Given the description of an element on the screen output the (x, y) to click on. 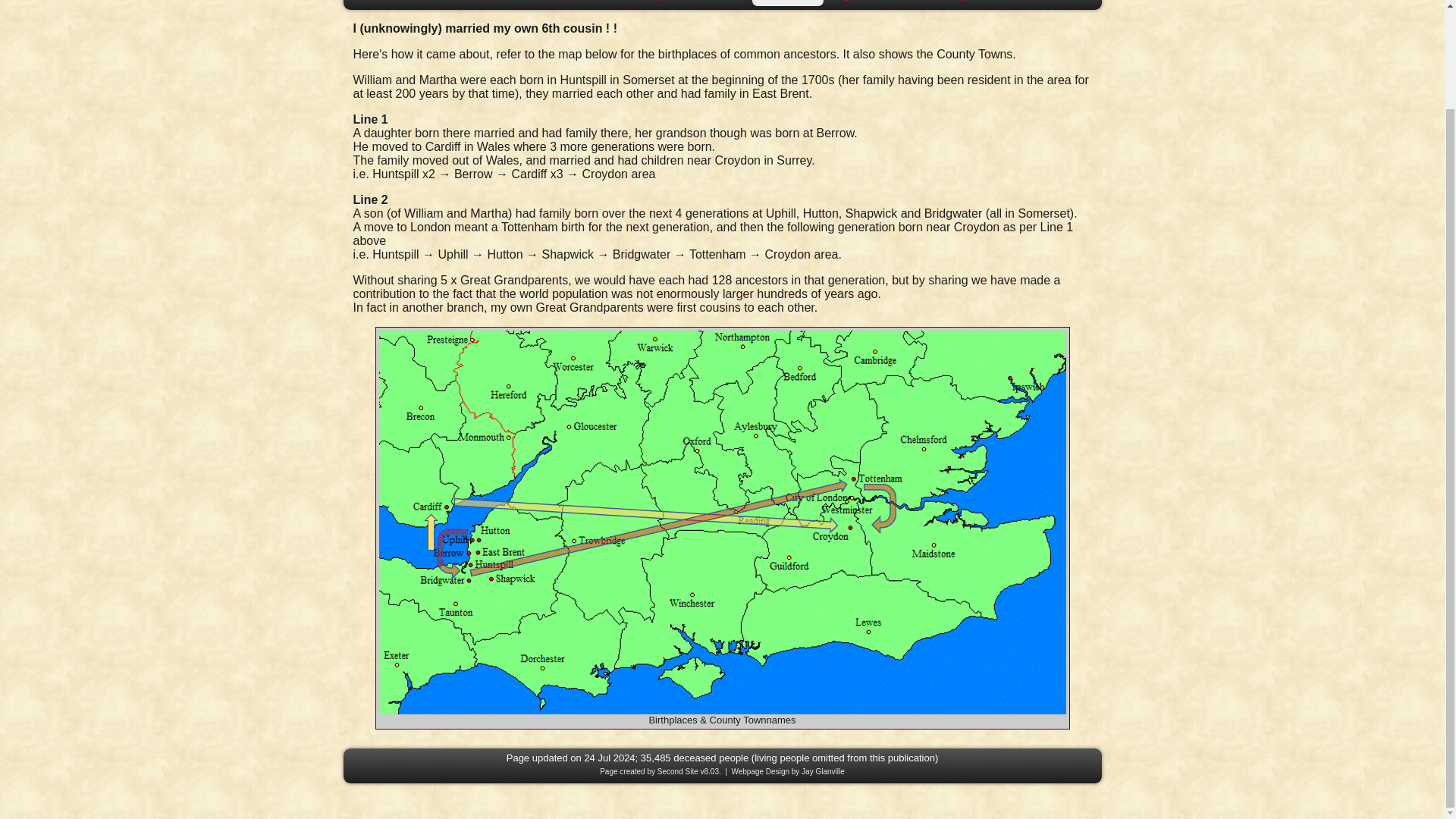
Surname Index (443, 2)
6th Cousin (788, 2)
Second Site (678, 770)
Jay's Genes (866, 2)
Name Search (537, 2)
Maps (657, 2)
Home (369, 2)
Email Jay (941, 2)
Charts (608, 2)
Calendars (715, 2)
